Given the description of an element on the screen output the (x, y) to click on. 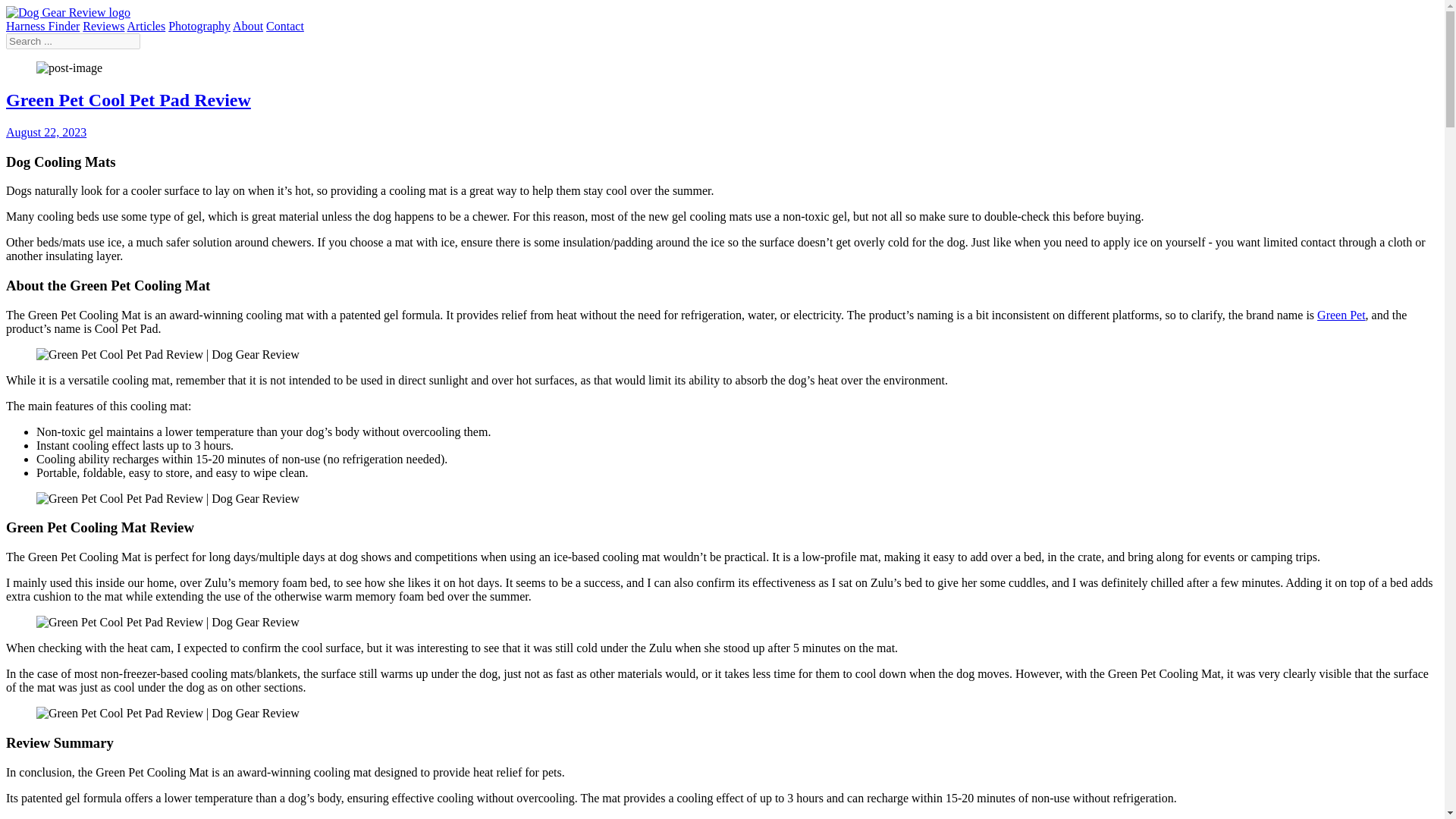
Articles (146, 25)
About (247, 25)
Contact (285, 25)
Harness Finder (42, 25)
Reviews (102, 25)
Green Pet (1341, 314)
Photography (199, 25)
